Given the description of an element on the screen output the (x, y) to click on. 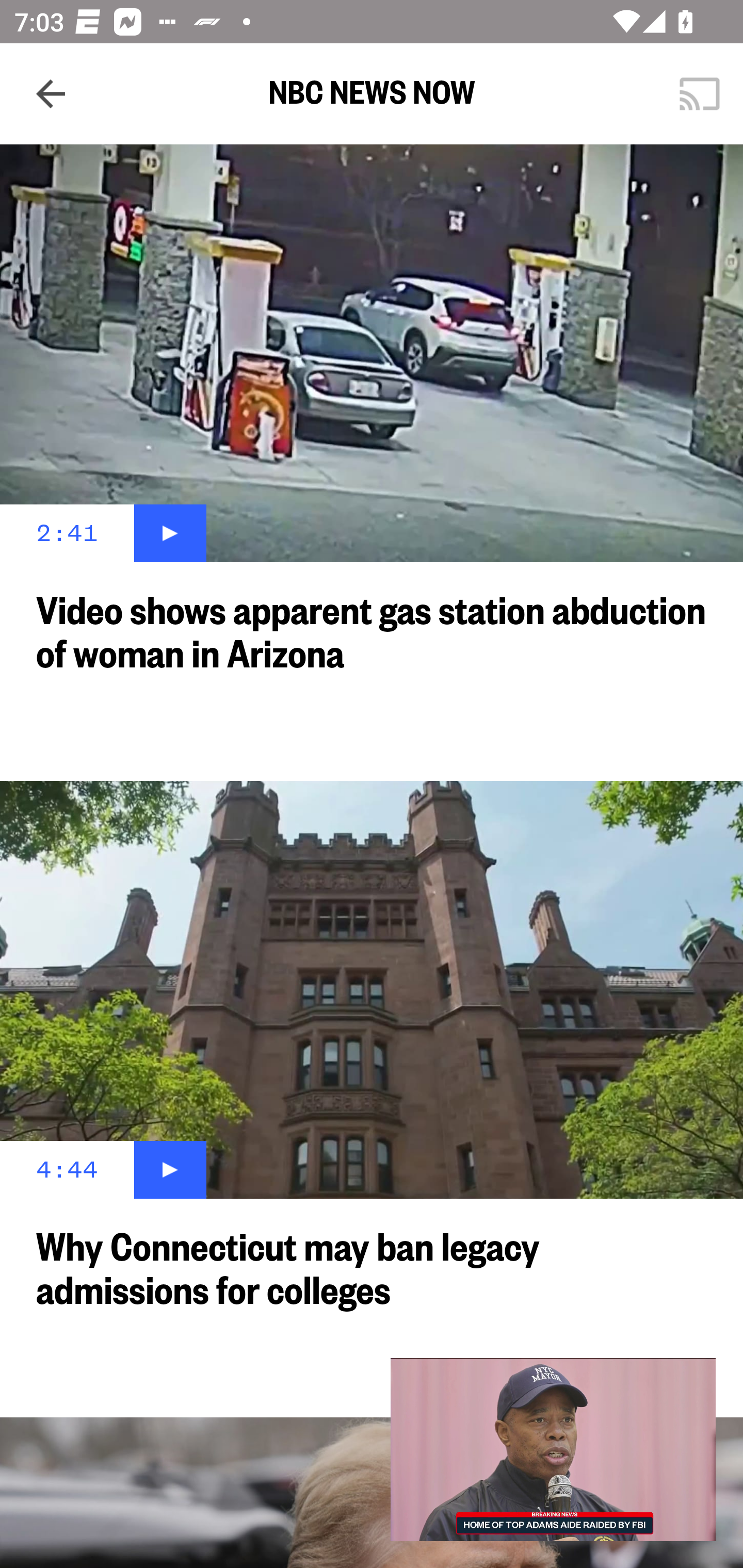
Navigate up (50, 93)
Cast. Disconnected (699, 93)
